Given the description of an element on the screen output the (x, y) to click on. 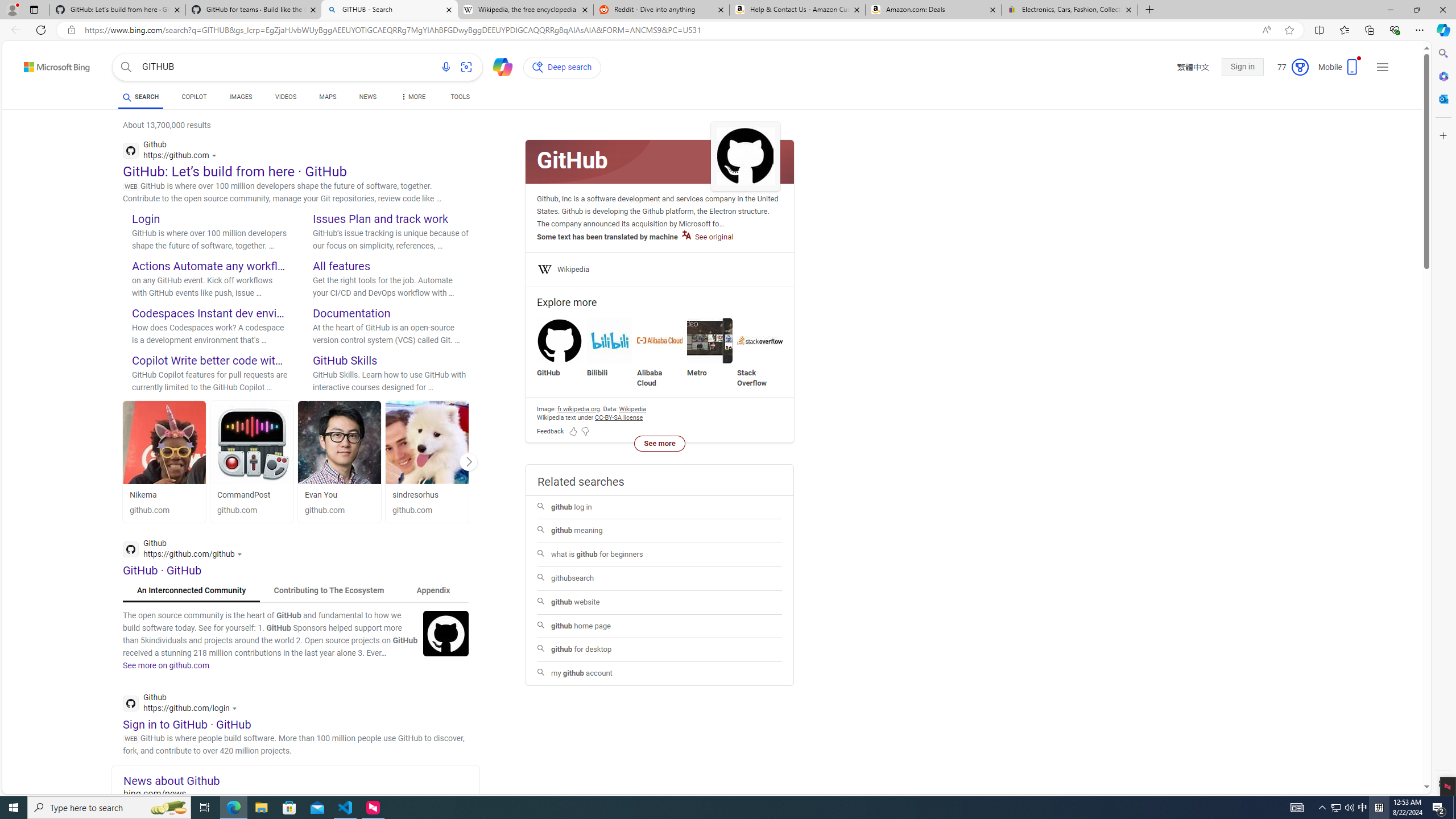
Evan You (339, 494)
SEARCH (140, 96)
Feedback Like (573, 430)
Help & Contact Us - Amazon Customer Service (797, 9)
Github (182, 704)
github log in (659, 507)
sindresorhus (415, 494)
CommandPost (252, 442)
Nikema (163, 442)
